Given the description of an element on the screen output the (x, y) to click on. 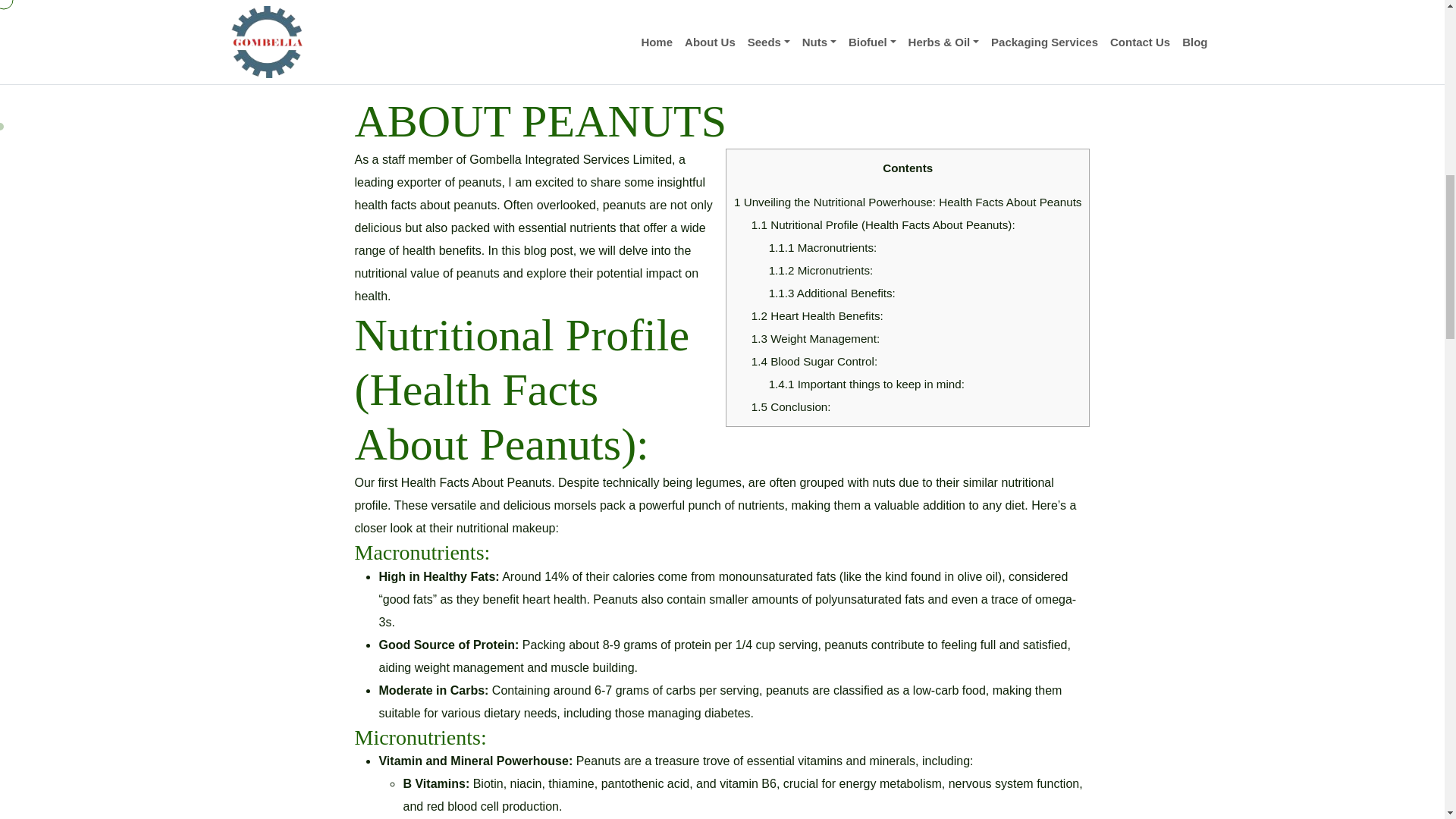
1.4.1 Important things to keep in mind: (865, 383)
leading exporter of peanuts (426, 182)
1.2 Heart Health Benefits: (817, 315)
1.5 Conclusion: (791, 406)
1.1.3 Additional Benefits: (831, 292)
1.1.2 Micronutrients: (820, 269)
1.4 Blood Sugar Control: (814, 360)
1.1.1 Macronutrients: (822, 246)
1.3 Weight Management: (815, 338)
